Given the description of an element on the screen output the (x, y) to click on. 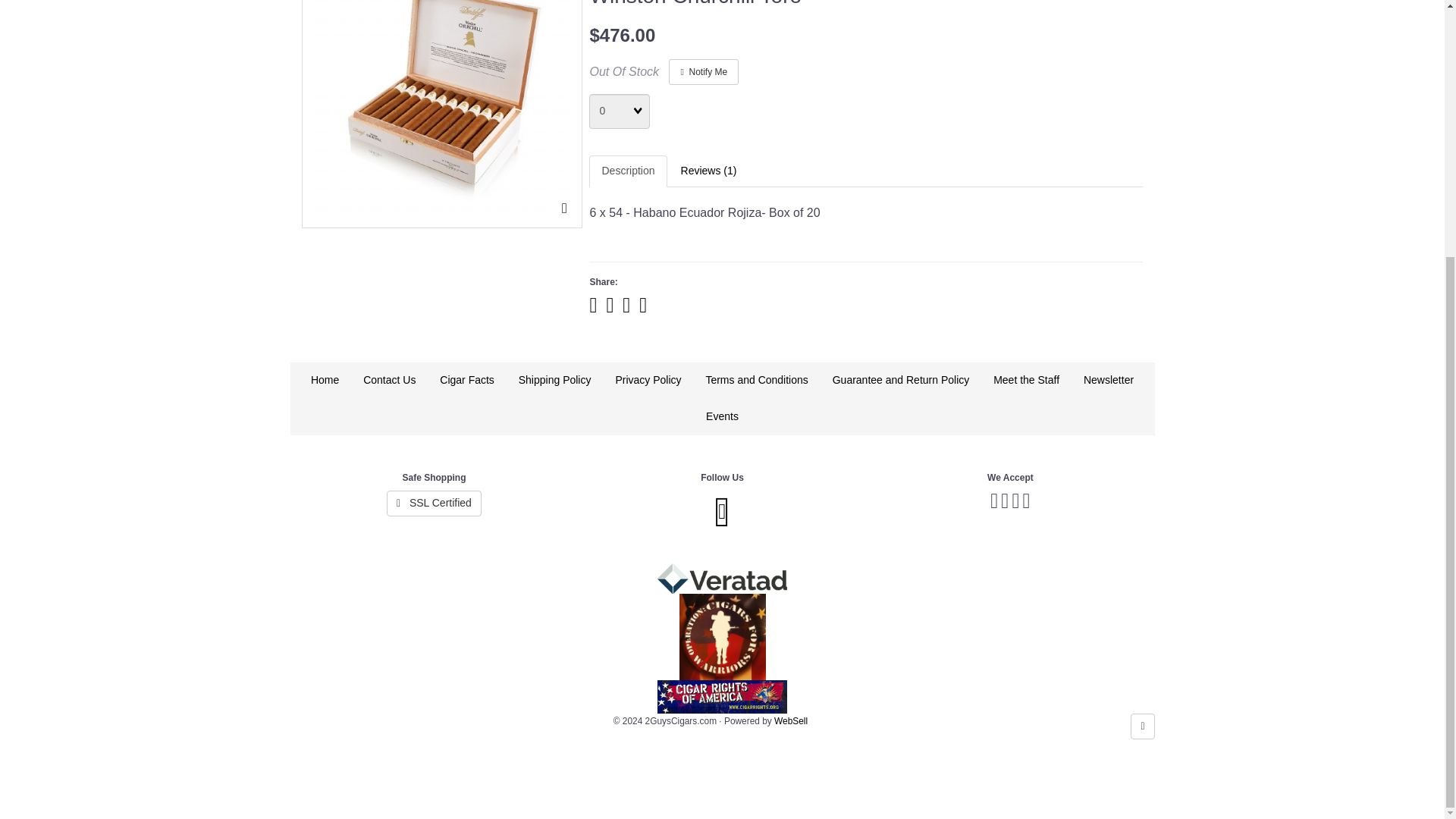
  Notify Me (703, 71)
Description (627, 171)
Winston Churchill Toro (441, 106)
